Given the description of an element on the screen output the (x, y) to click on. 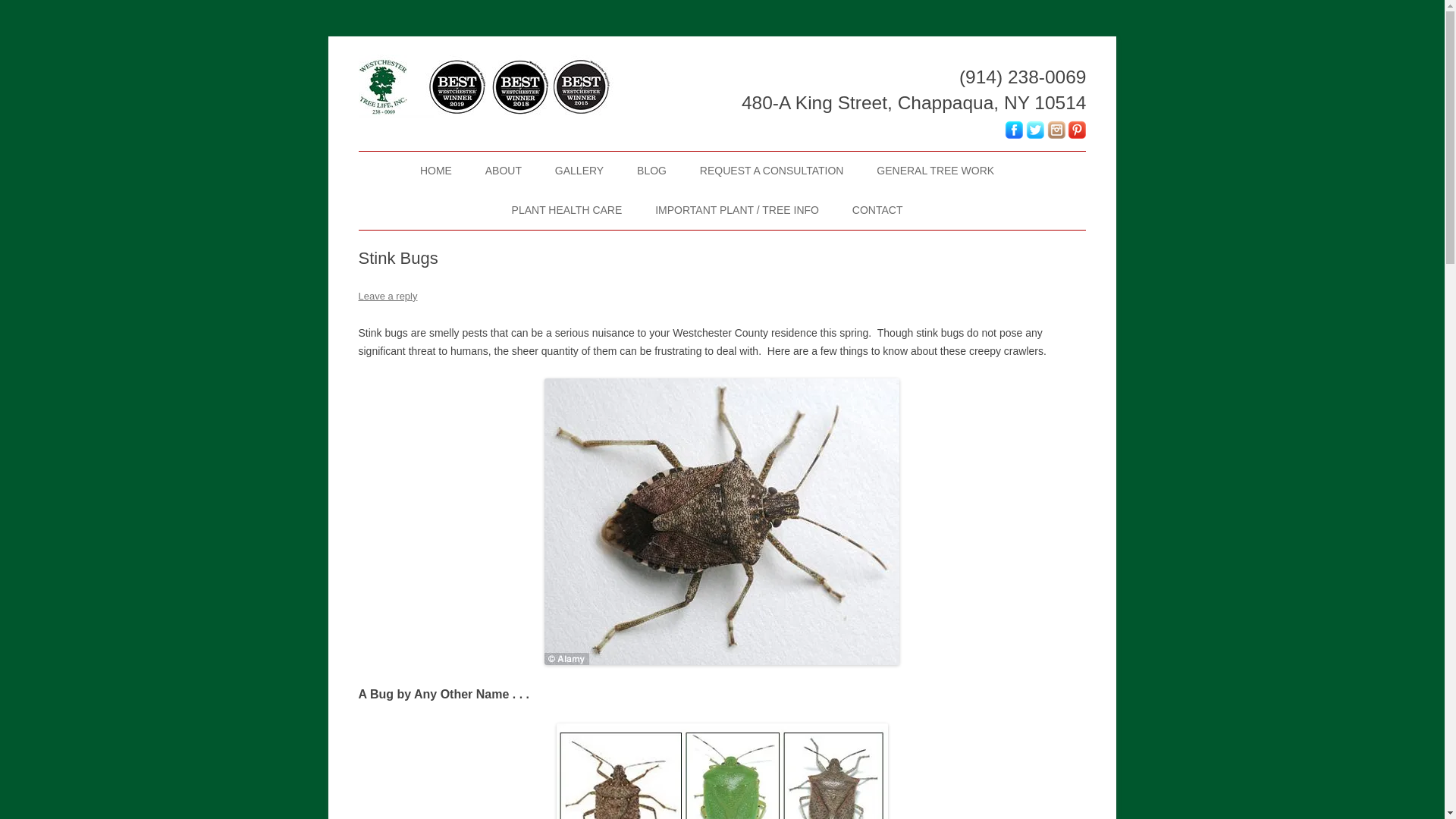
GENERAL TREE WORK (935, 170)
ABOUT (502, 170)
REQUEST A CONSULTATION (772, 170)
Westchester Tree Life (459, 54)
Westchester Tree Life (459, 54)
GALLERY (579, 170)
CONTACT (876, 210)
PLANT HEALTH CARE (567, 210)
Leave a reply (387, 296)
